Given the description of an element on the screen output the (x, y) to click on. 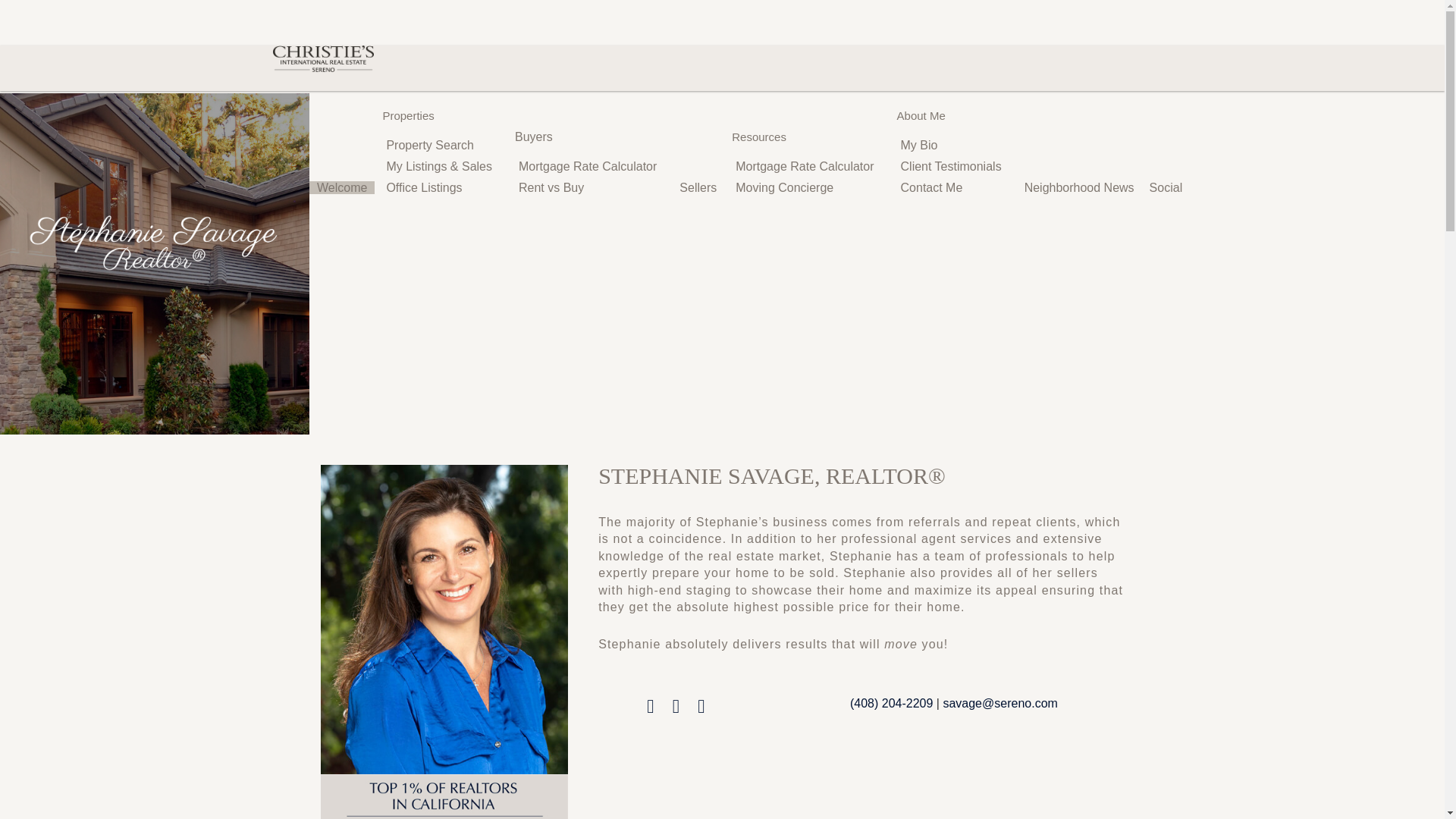
My Bio (921, 144)
Mortgage Rate Calculator (588, 166)
Welcome (341, 187)
Moving Concierge (785, 187)
Neighborhood News (1078, 187)
Properties (407, 115)
logo-stephanie-savage (154, 241)
Mortgage Rate Calculator (805, 166)
Contact Me (933, 187)
Resources (758, 136)
Social Impact (1185, 187)
award (443, 796)
Office Listings (425, 187)
Sellers (697, 187)
Buyers (533, 136)
